Given the description of an element on the screen output the (x, y) to click on. 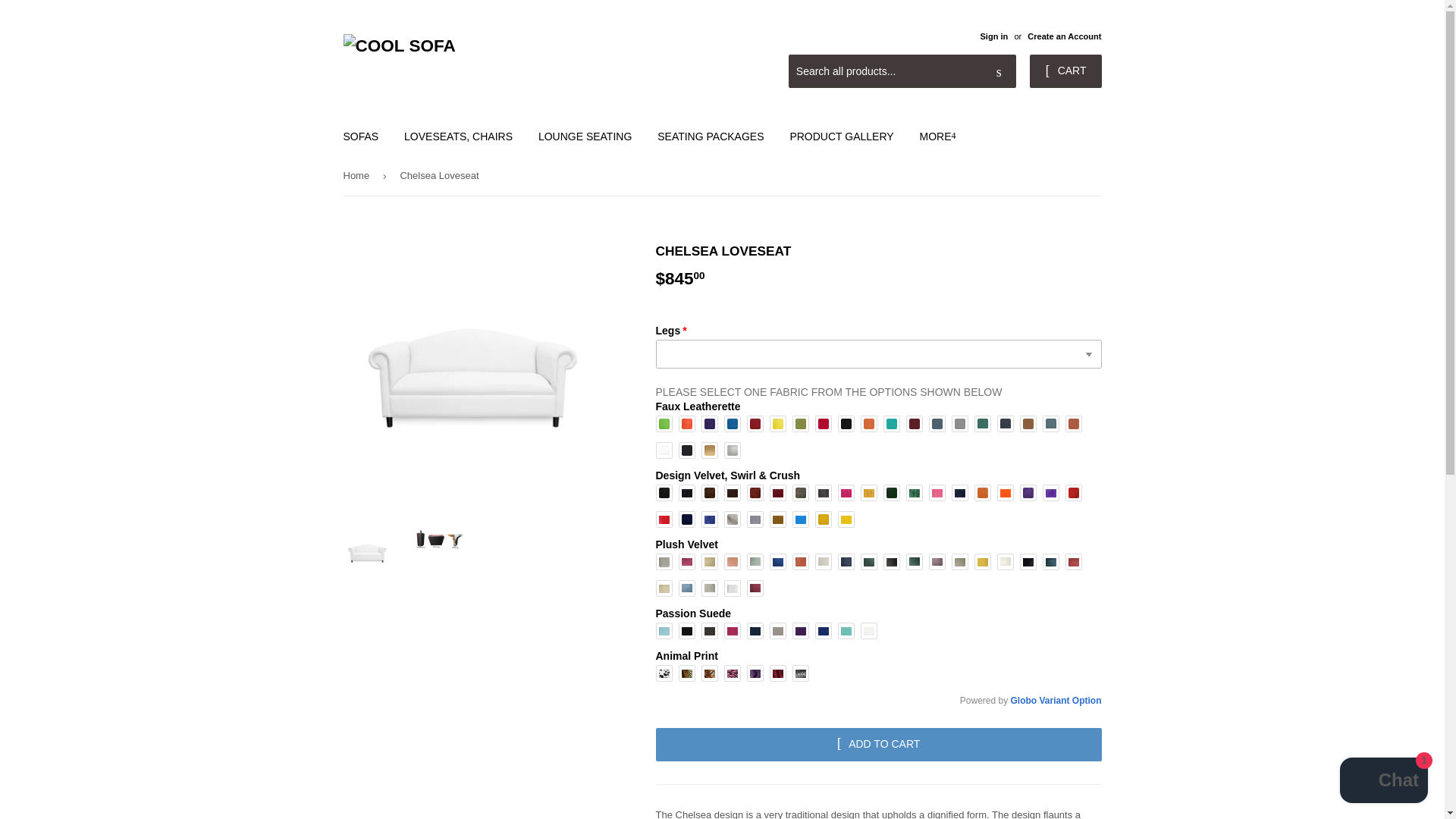
Back to the frontpage (358, 176)
Search (998, 71)
LOVESEATS, CHAIRS (458, 136)
MORE (936, 136)
CART (1064, 70)
Sign in (993, 35)
PRODUCT GALLERY (840, 136)
SEATING PACKAGES (710, 136)
SOFAS (360, 136)
Shopify online store chat (1383, 781)
LOUNGE SEATING (585, 136)
Create an Account (1063, 35)
ADD TO CART (877, 744)
Globo Variant Option (1055, 700)
Home (358, 176)
